Given the description of an element on the screen output the (x, y) to click on. 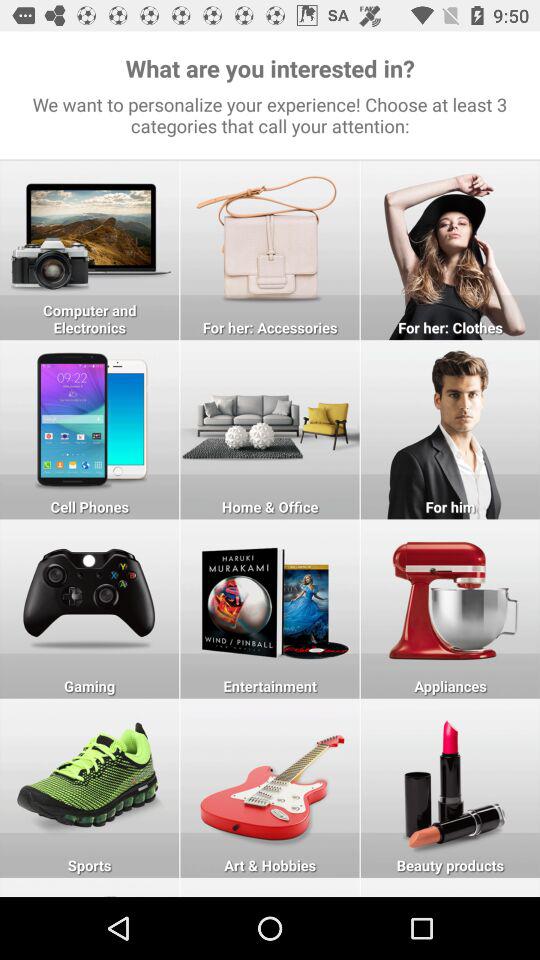
this image more click (450, 429)
